Given the description of an element on the screen output the (x, y) to click on. 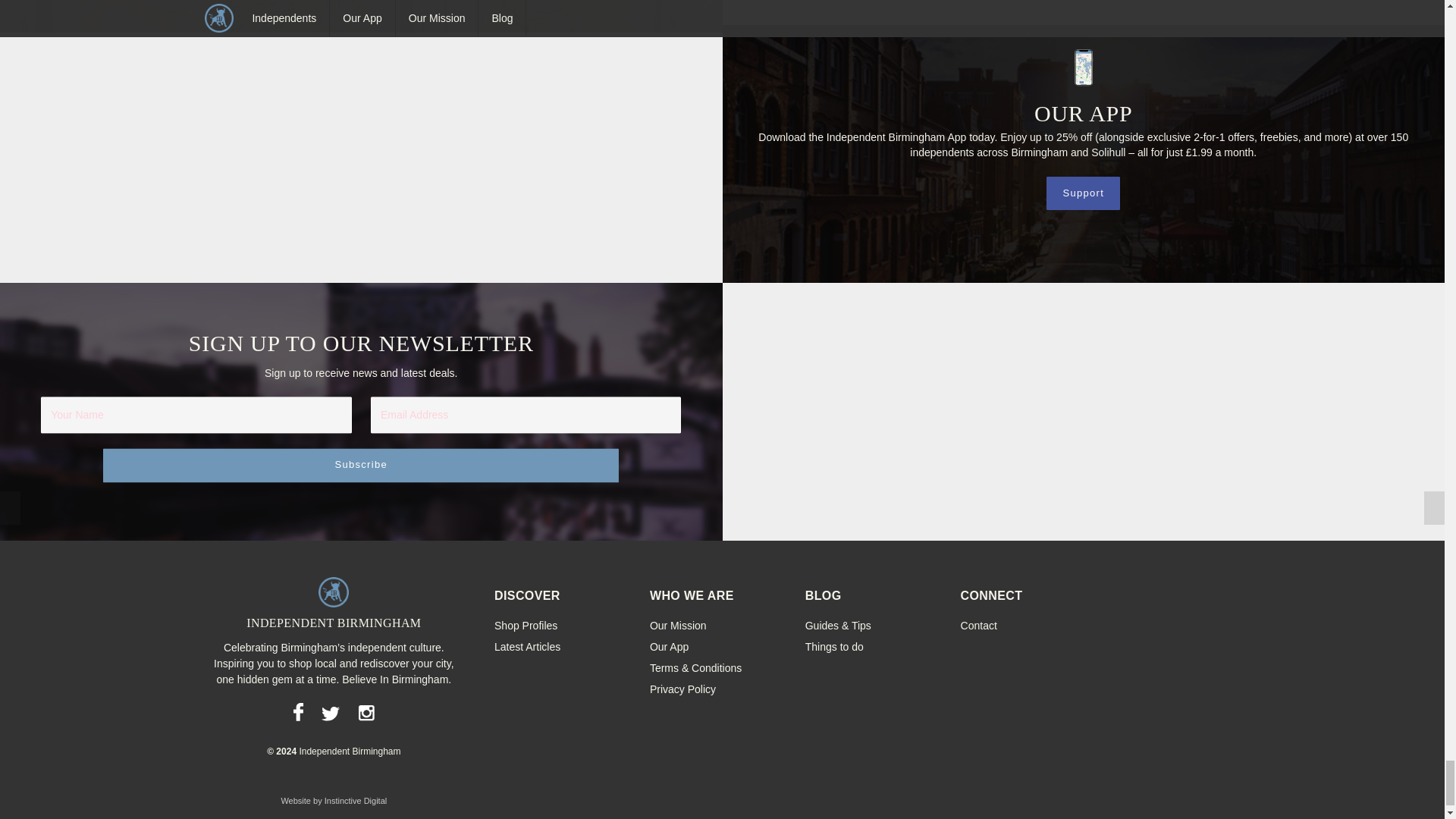
Contact (978, 625)
Shop Profiles (526, 625)
Our Mission (677, 625)
Things to do (834, 646)
Website by Instinctive Digital (334, 800)
Privacy Policy (682, 689)
Our App (668, 646)
Support (1082, 193)
Subscribe (360, 465)
Latest Articles (527, 646)
Subscribe (360, 465)
Website by Instinctive Digital (334, 800)
